Given the description of an element on the screen output the (x, y) to click on. 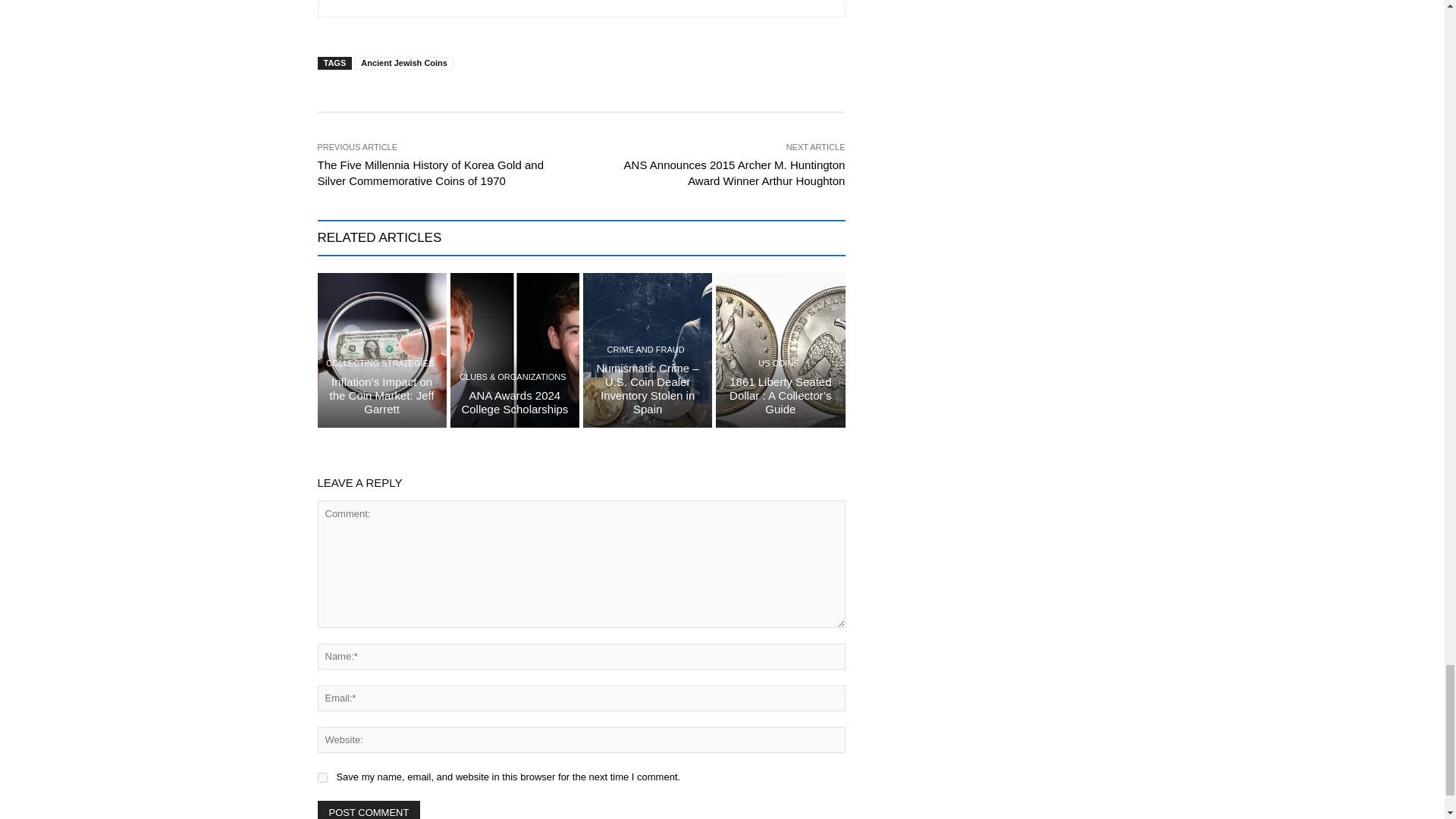
yes (321, 777)
Post Comment (368, 809)
ANA Awards 2024 College Scholarships (514, 402)
